Given the description of an element on the screen output the (x, y) to click on. 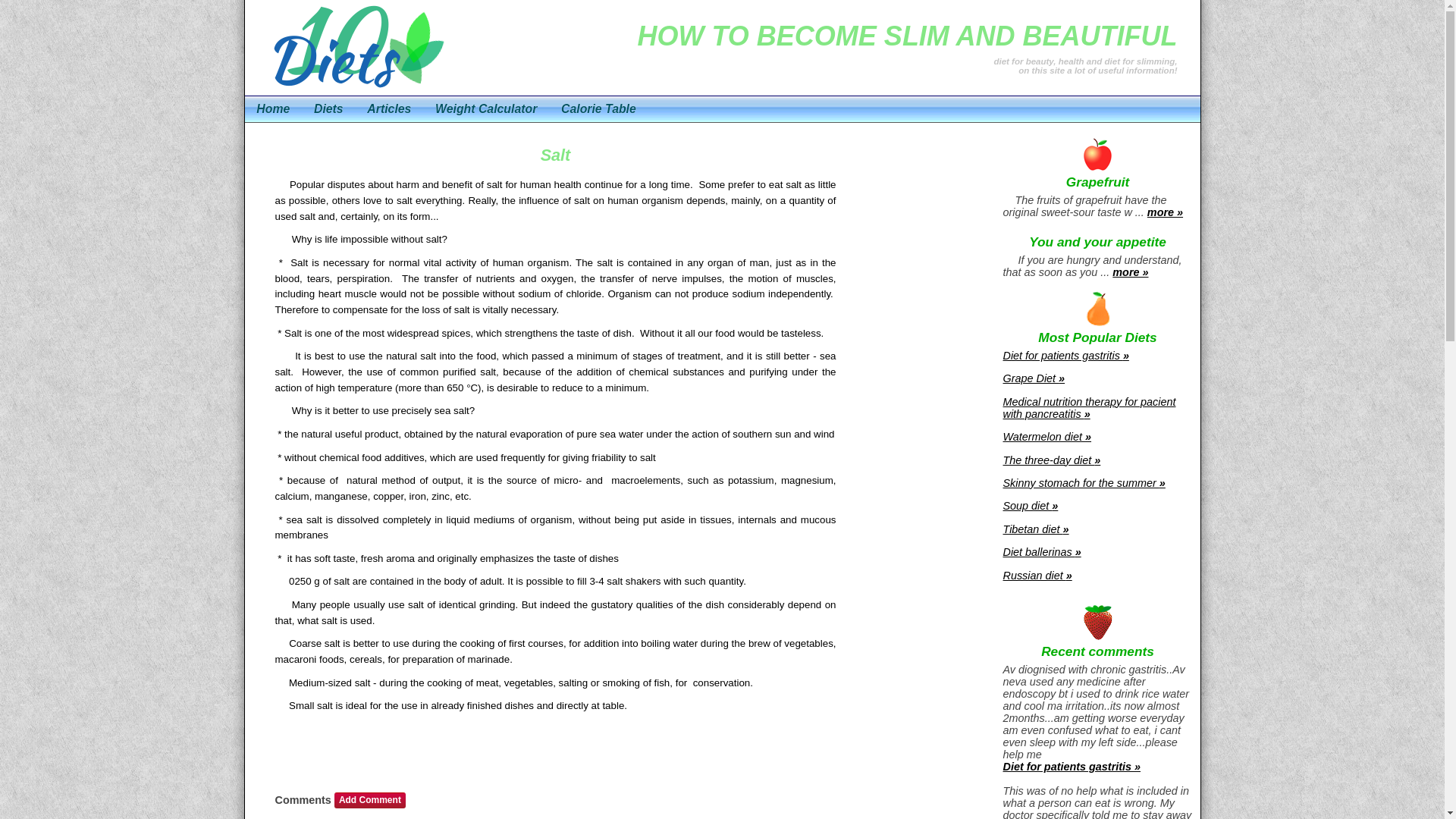
Home Element type: text (272, 108)
Calorie Table Element type: text (598, 108)
Articles Element type: text (389, 108)
Add Comment Element type: text (369, 800)
Weight Calculator Element type: text (486, 108)
Diets Element type: text (327, 108)
Advertisement Element type: hover (443, 767)
Advertisement Element type: hover (926, 365)
